Given the description of an element on the screen output the (x, y) to click on. 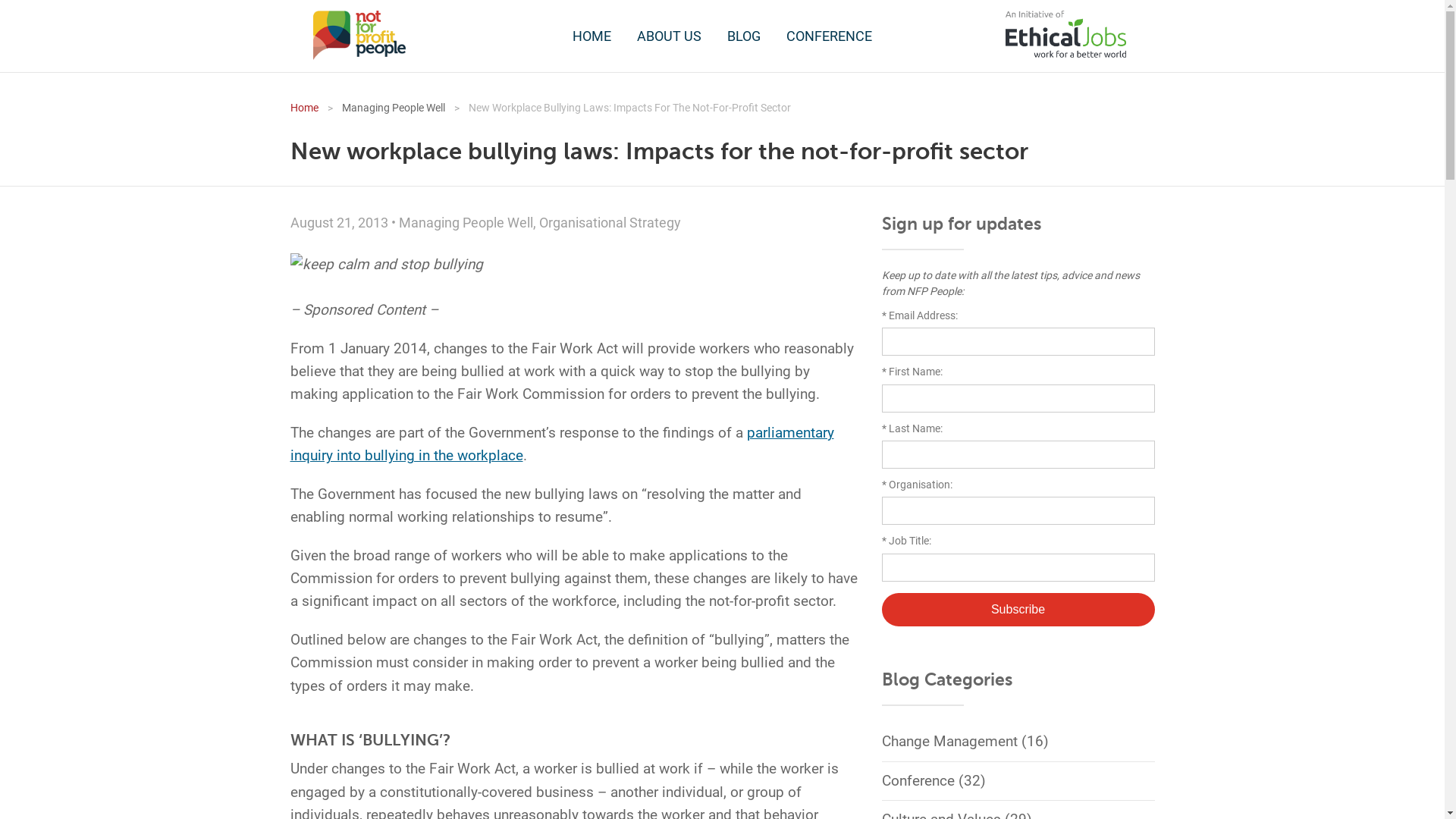
parliamentary inquiry into bullying in the workplace Element type: text (561, 443)
BLOG Element type: text (743, 36)
HOME Element type: text (591, 36)
ABOUT US Element type: text (668, 36)
Home Element type: text (303, 107)
Change Management Element type: text (948, 740)
Subscribe Element type: text (1017, 609)
CONFERENCE Element type: text (829, 36)
Managing People Well Element type: text (381, 108)
Managing People Well Element type: text (465, 222)
Organisational Strategy Element type: text (609, 222)
Conference Element type: text (917, 780)
